Given the description of an element on the screen output the (x, y) to click on. 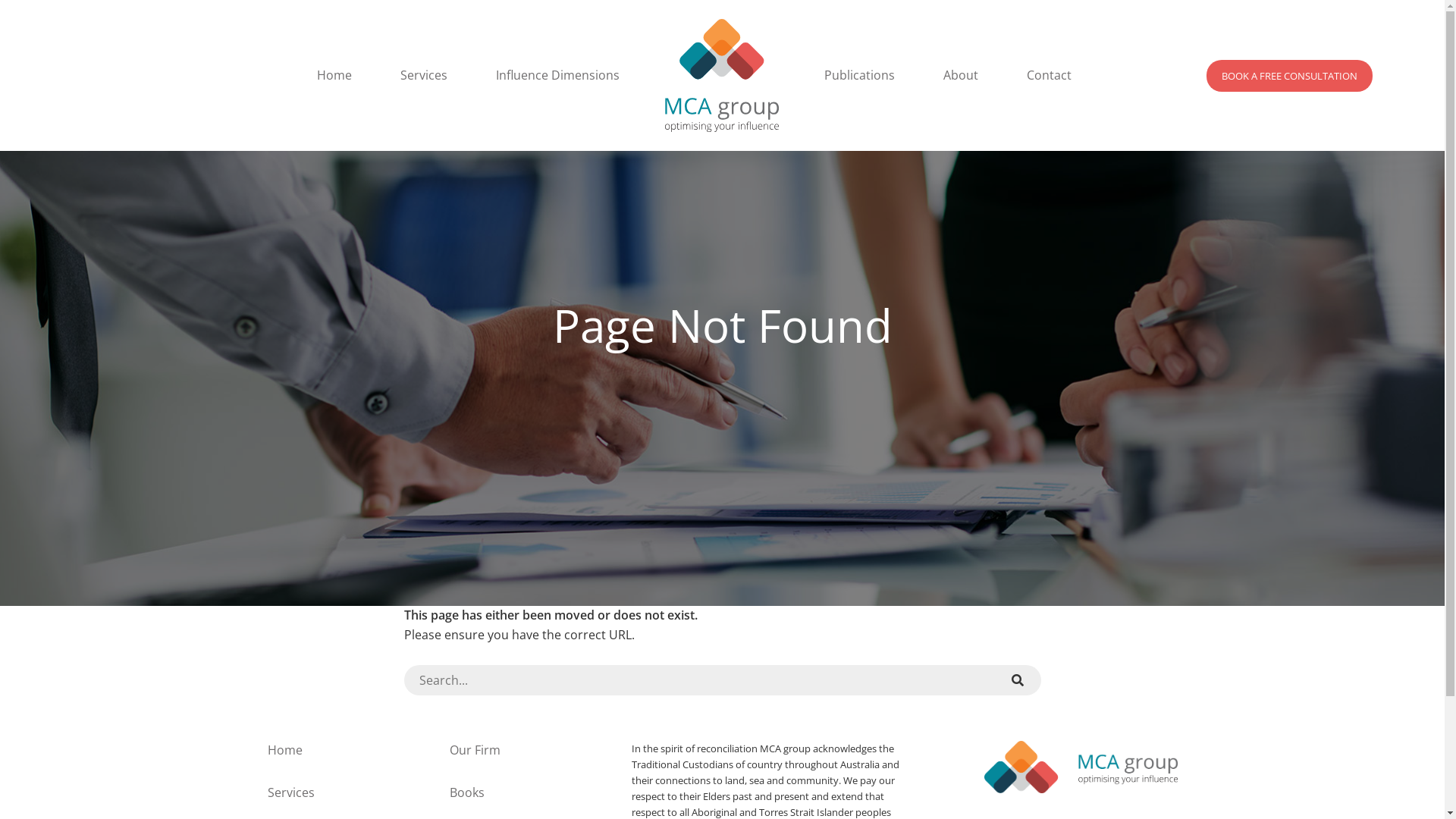
Influence Dimensions Element type: text (557, 74)
Services Element type: text (289, 792)
Home Element type: text (283, 749)
Publications Element type: text (859, 74)
Home Element type: text (333, 74)
BOOK A FREE CONSULTATION Element type: text (1289, 75)
About Element type: text (960, 74)
Books Element type: text (465, 792)
Our Firm Element type: text (473, 749)
Contact Element type: text (1048, 74)
Services Element type: text (423, 74)
